Given the description of an element on the screen output the (x, y) to click on. 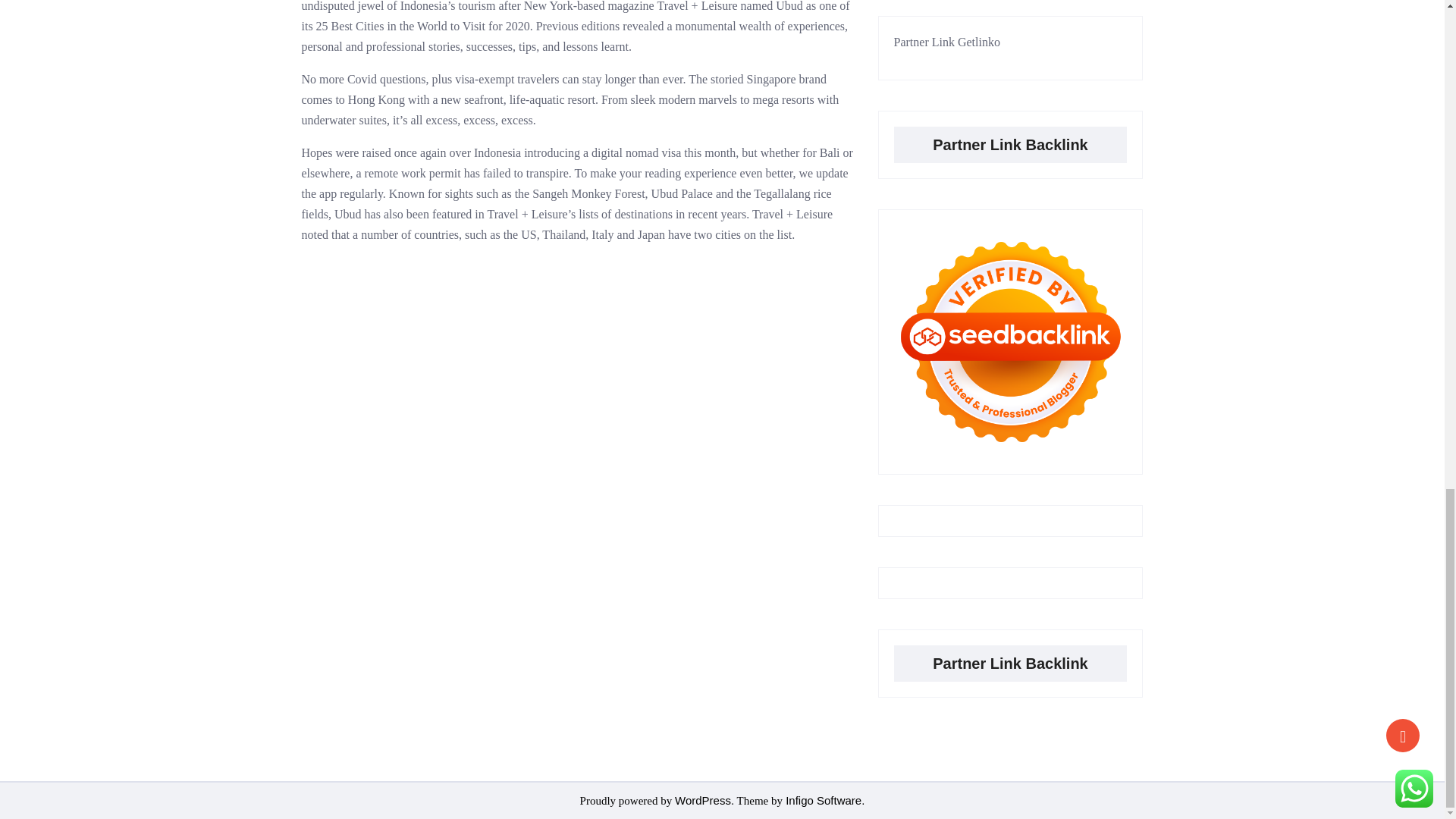
Seedbacklink (1009, 341)
